Given the description of an element on the screen output the (x, y) to click on. 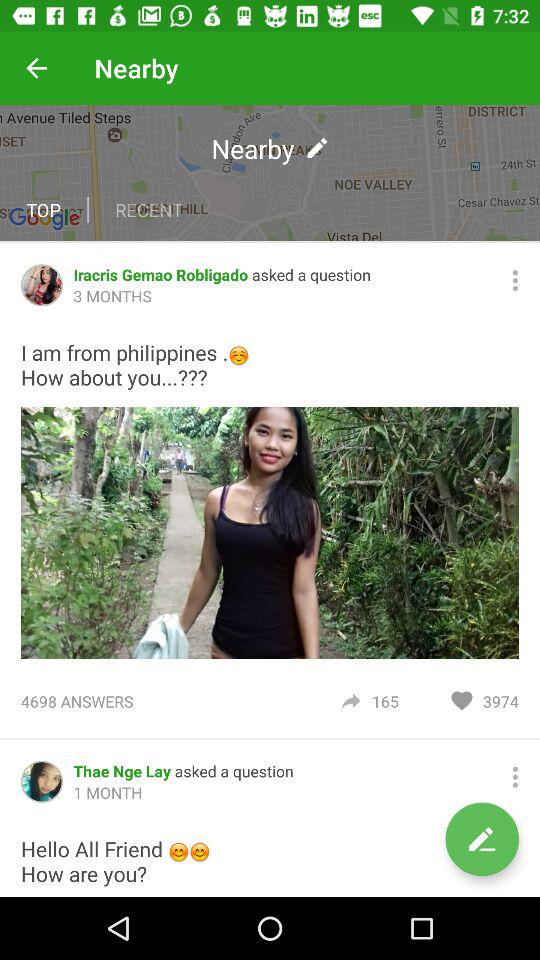
write (482, 839)
